Given the description of an element on the screen output the (x, y) to click on. 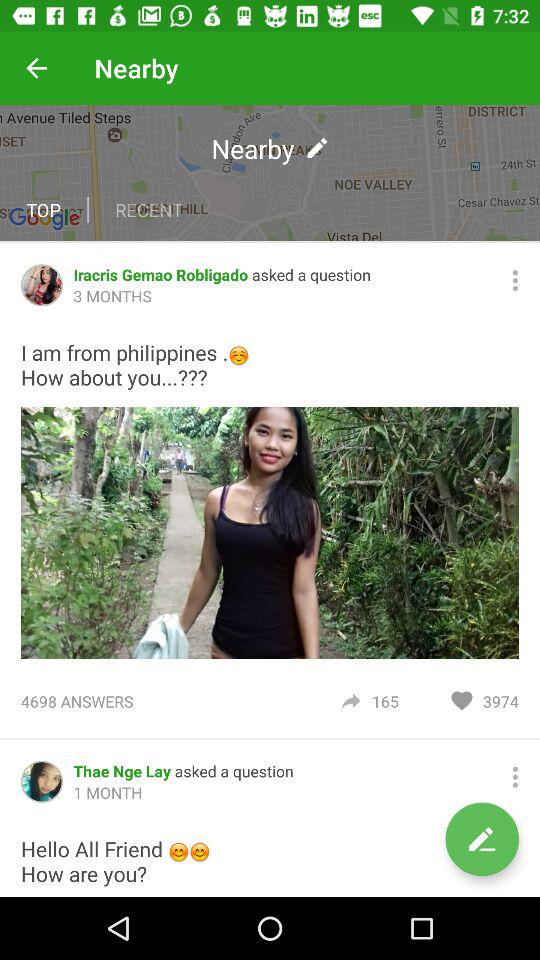
write (482, 839)
